Given the description of an element on the screen output the (x, y) to click on. 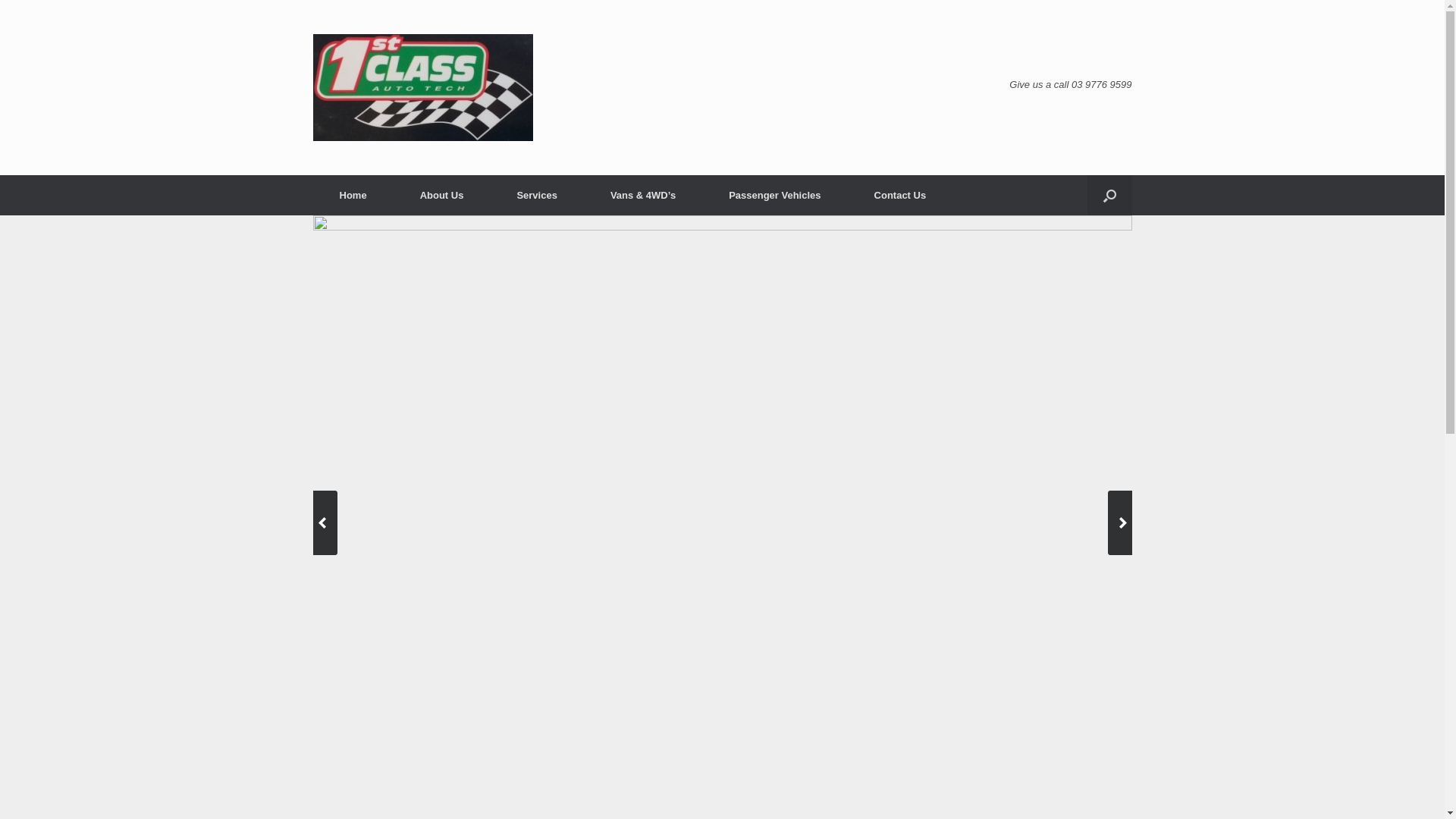
> Element type: text (1119, 522)
Firstclassauto Element type: hover (422, 87)
Home Element type: text (352, 195)
Contact Us Element type: text (900, 195)
About Us Element type: text (441, 195)
< Element type: text (324, 522)
Services Element type: text (536, 195)
Passenger Vehicles Element type: text (774, 195)
